Given the description of an element on the screen output the (x, y) to click on. 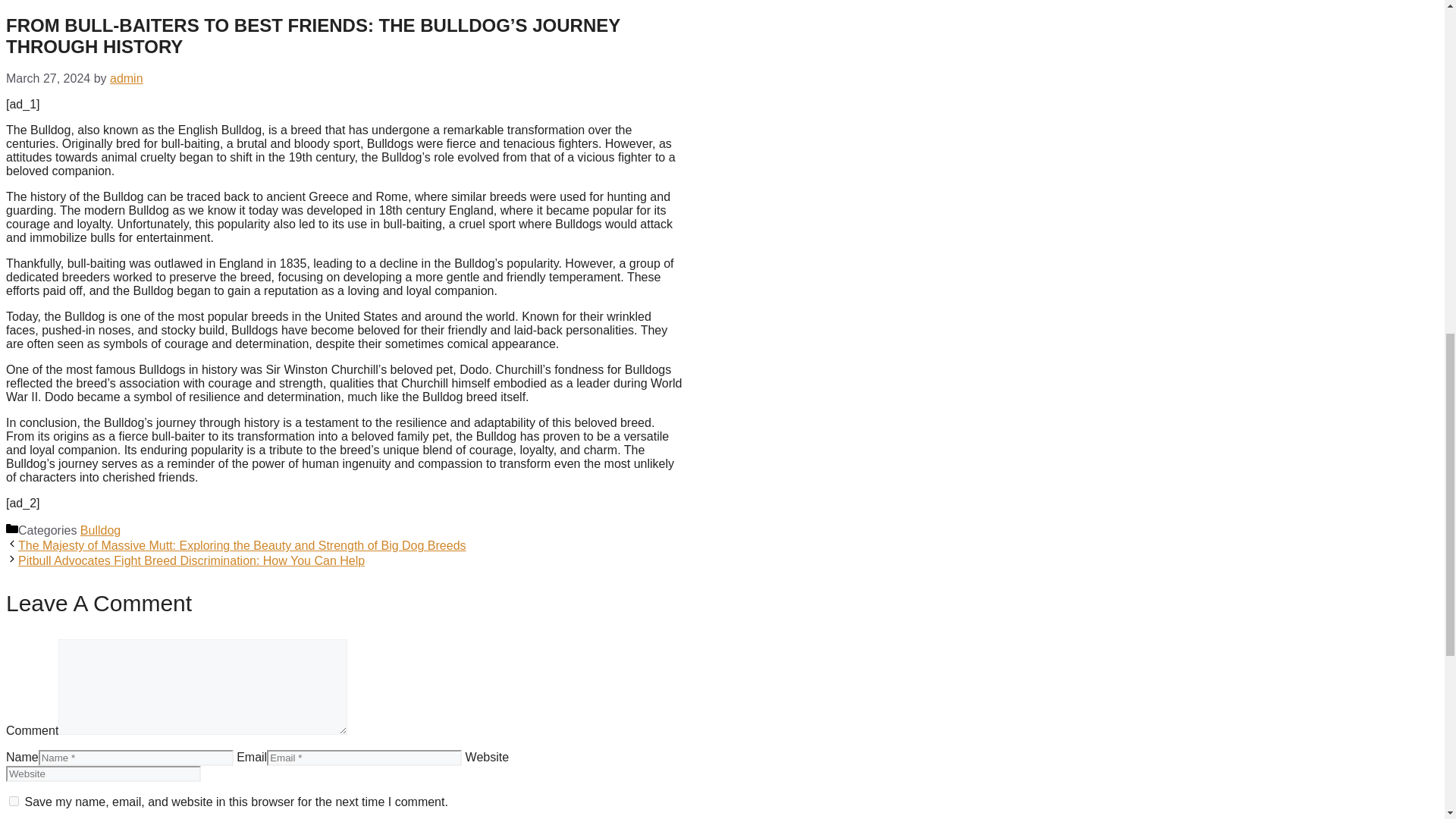
View all posts by admin (126, 78)
admin (126, 78)
yes (13, 800)
Bulldog (100, 530)
